Given the description of an element on the screen output the (x, y) to click on. 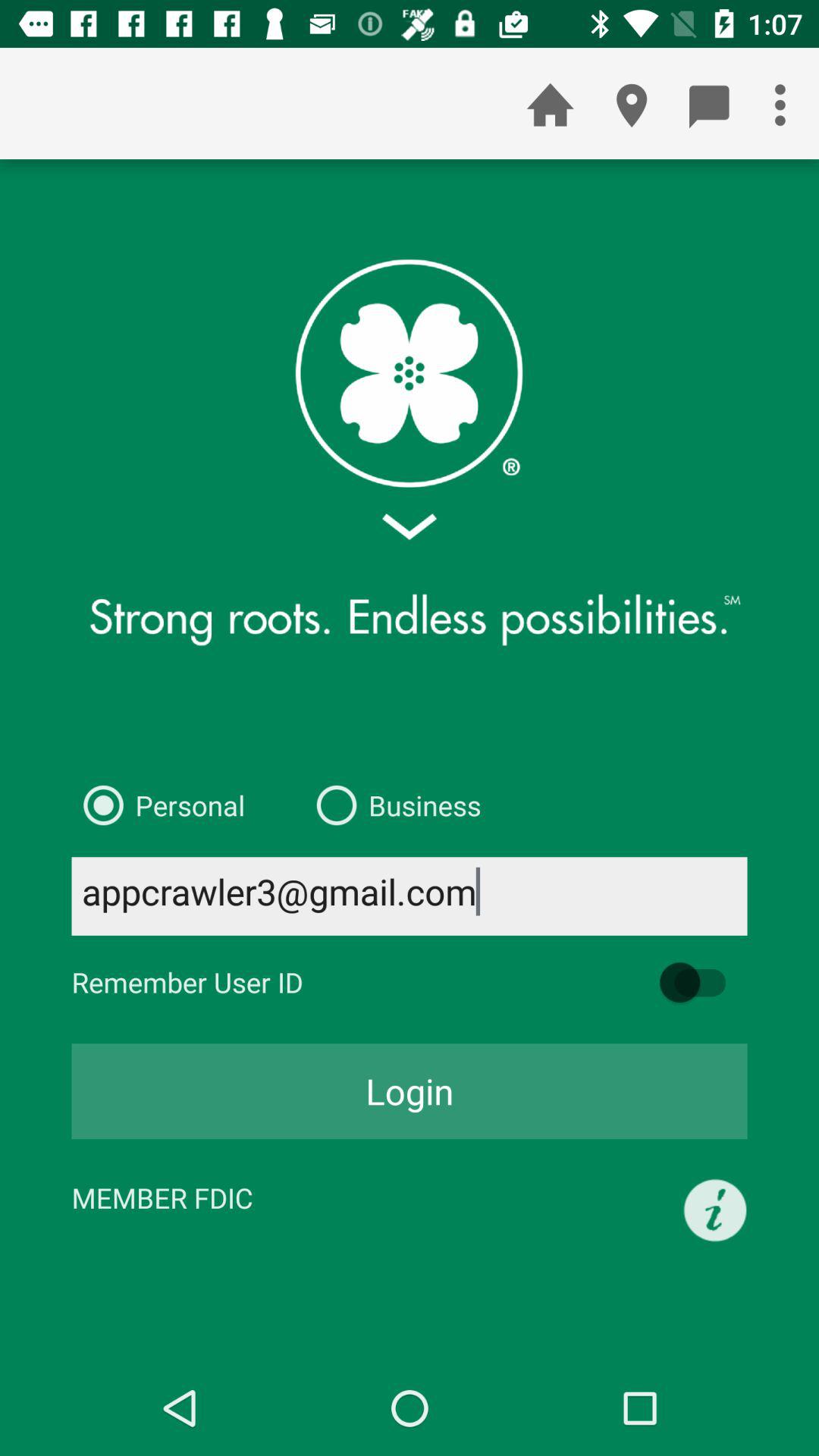
tap the icon next to business (158, 805)
